Given the description of an element on the screen output the (x, y) to click on. 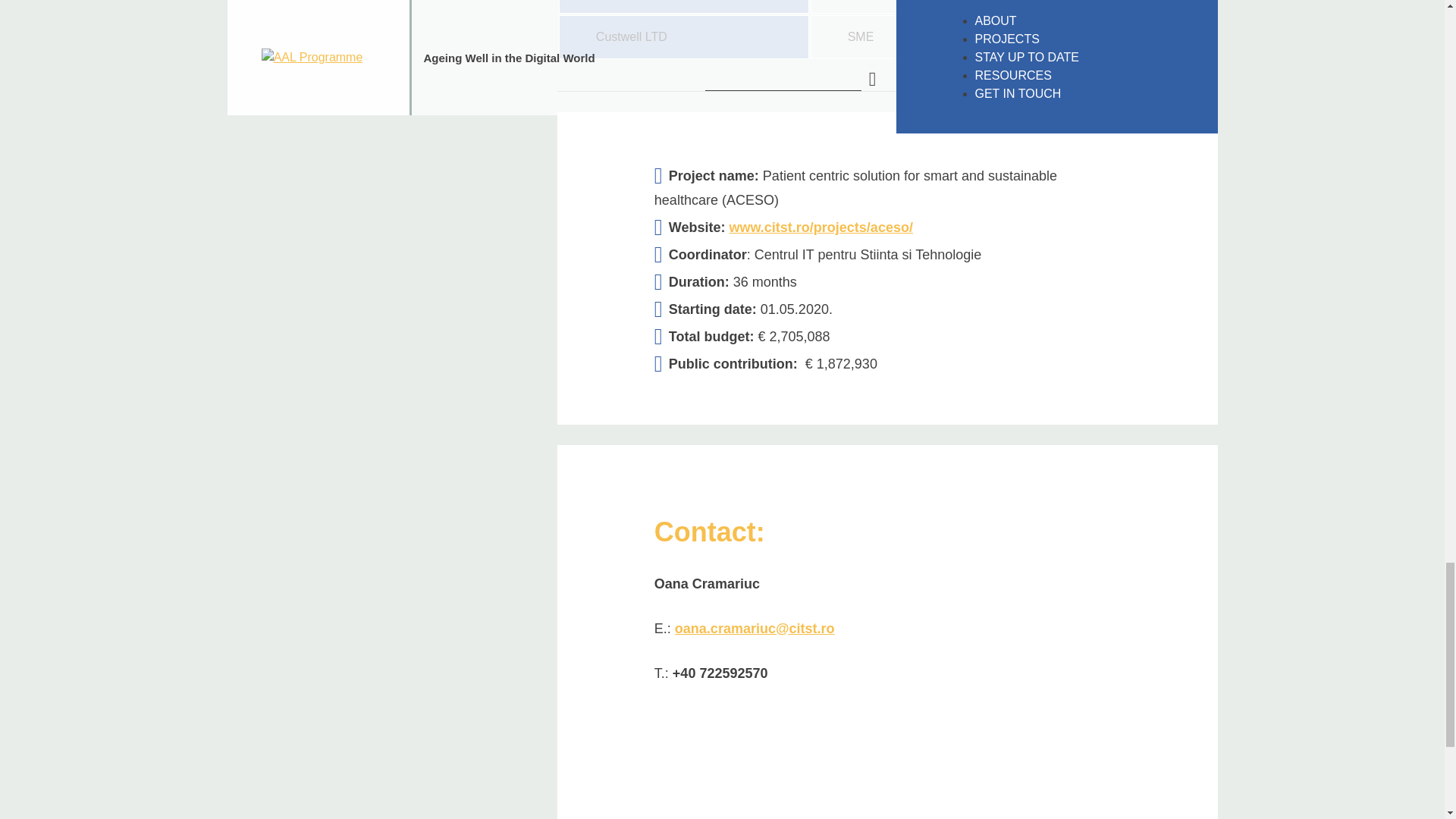
www.inspiringculture.org (1127, 36)
